Given the description of an element on the screen output the (x, y) to click on. 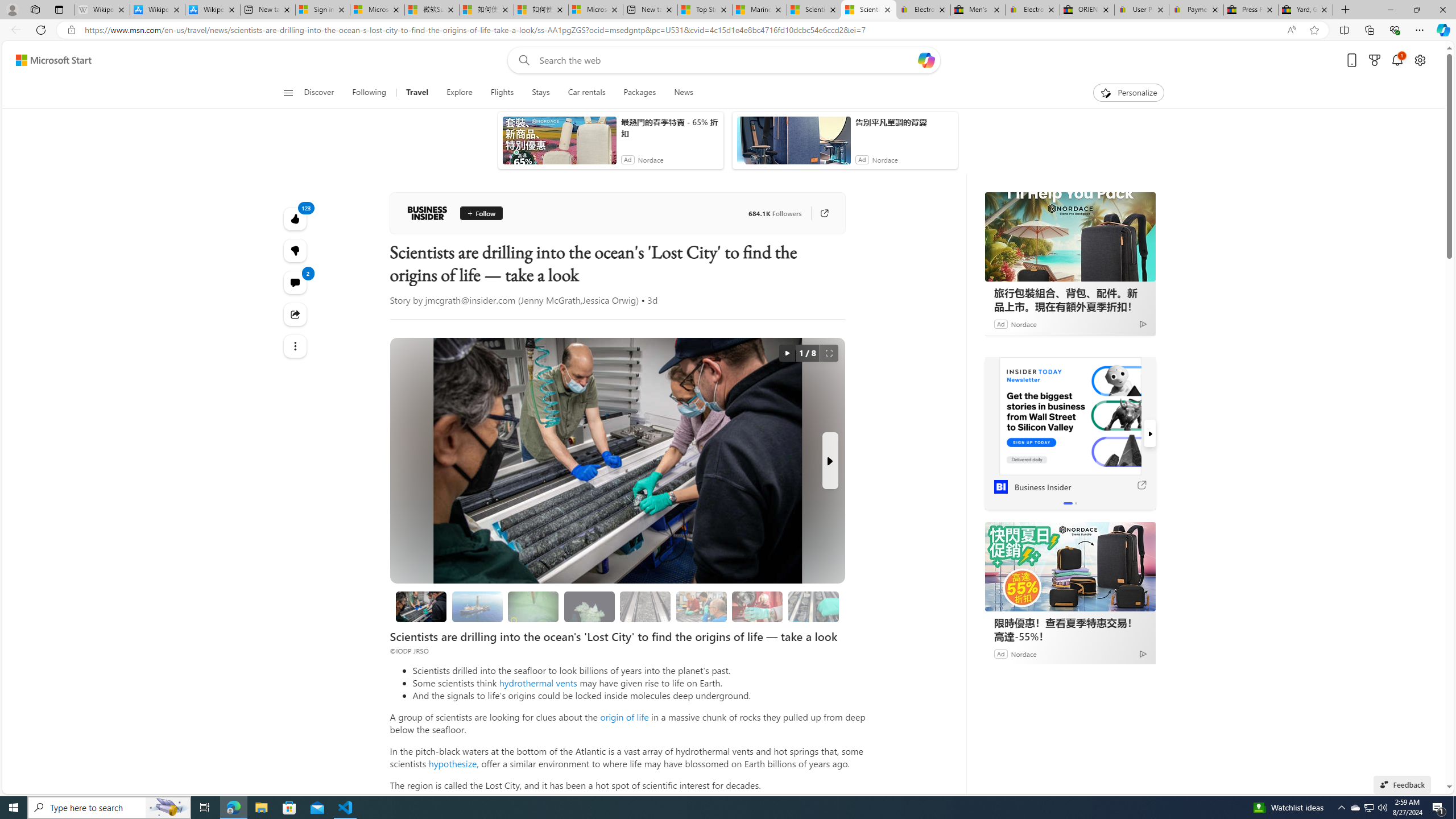
autorotate button (786, 352)
Next Slide (829, 460)
hypothesize, (453, 763)
Explore (459, 92)
